Given the description of an element on the screen output the (x, y) to click on. 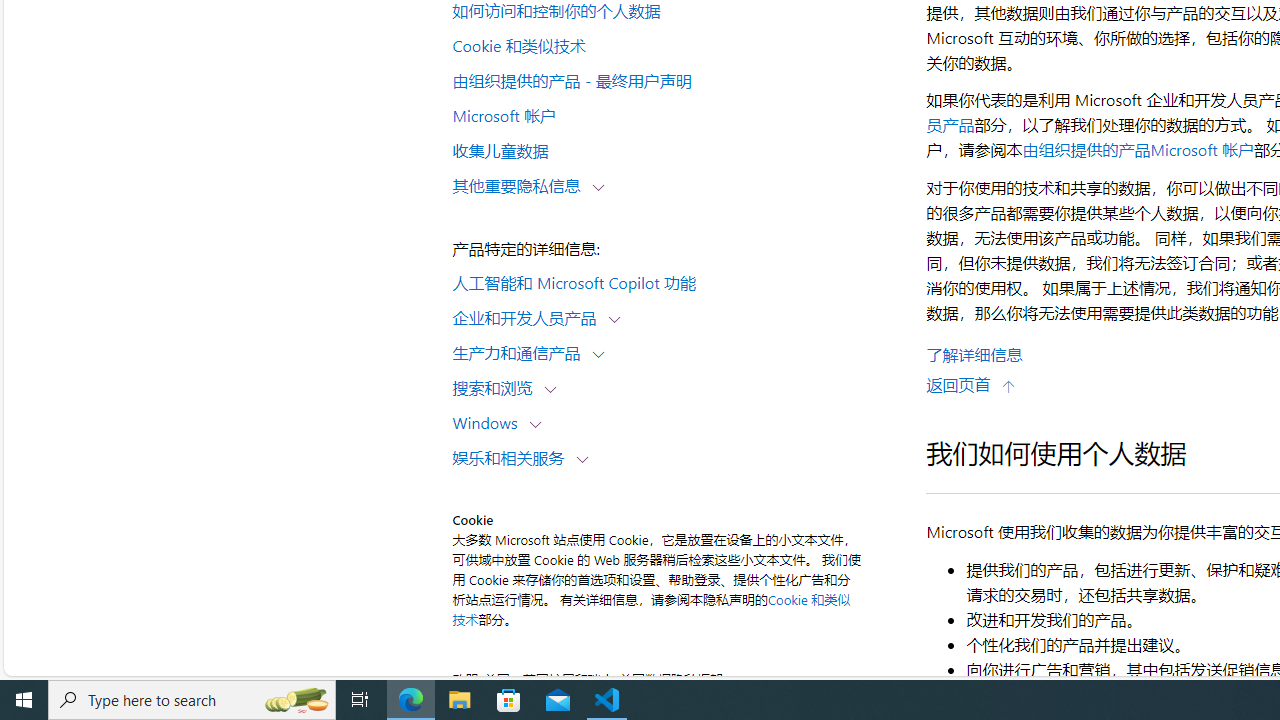
Windows (489, 421)
